Given the description of an element on the screen output the (x, y) to click on. 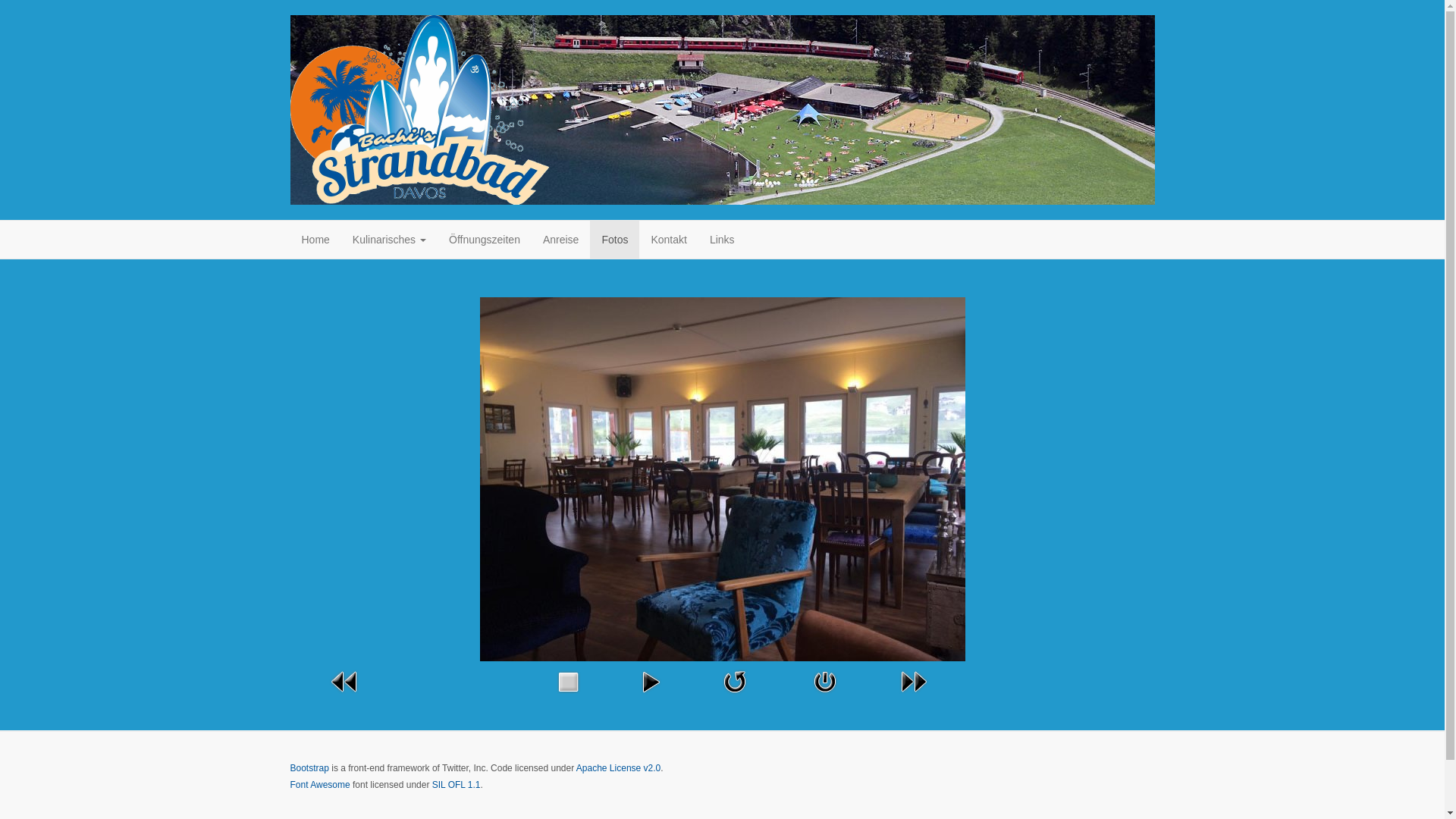
Kulinarisches Element type: text (389, 239)
Start Slideshow Element type: hover (650, 680)
Apache License v2.0 Element type: text (618, 767)
Anreise Element type: text (560, 239)
Previous Image Element type: hover (344, 680)
Close Window Element type: hover (824, 680)
Kontakt Element type: text (668, 239)
Next Image Element type: hover (912, 680)
Links Element type: text (722, 239)
SIL OFL 1.1 Element type: text (456, 784)
Home Element type: text (314, 239)
Font Awesome Element type: text (319, 784)
Bootstrap Element type: text (308, 767)
Refresh Element type: hover (734, 680)
Fotos Element type: text (614, 239)
Bachi's Strandbad Element type: hover (418, 109)
